Given the description of an element on the screen output the (x, y) to click on. 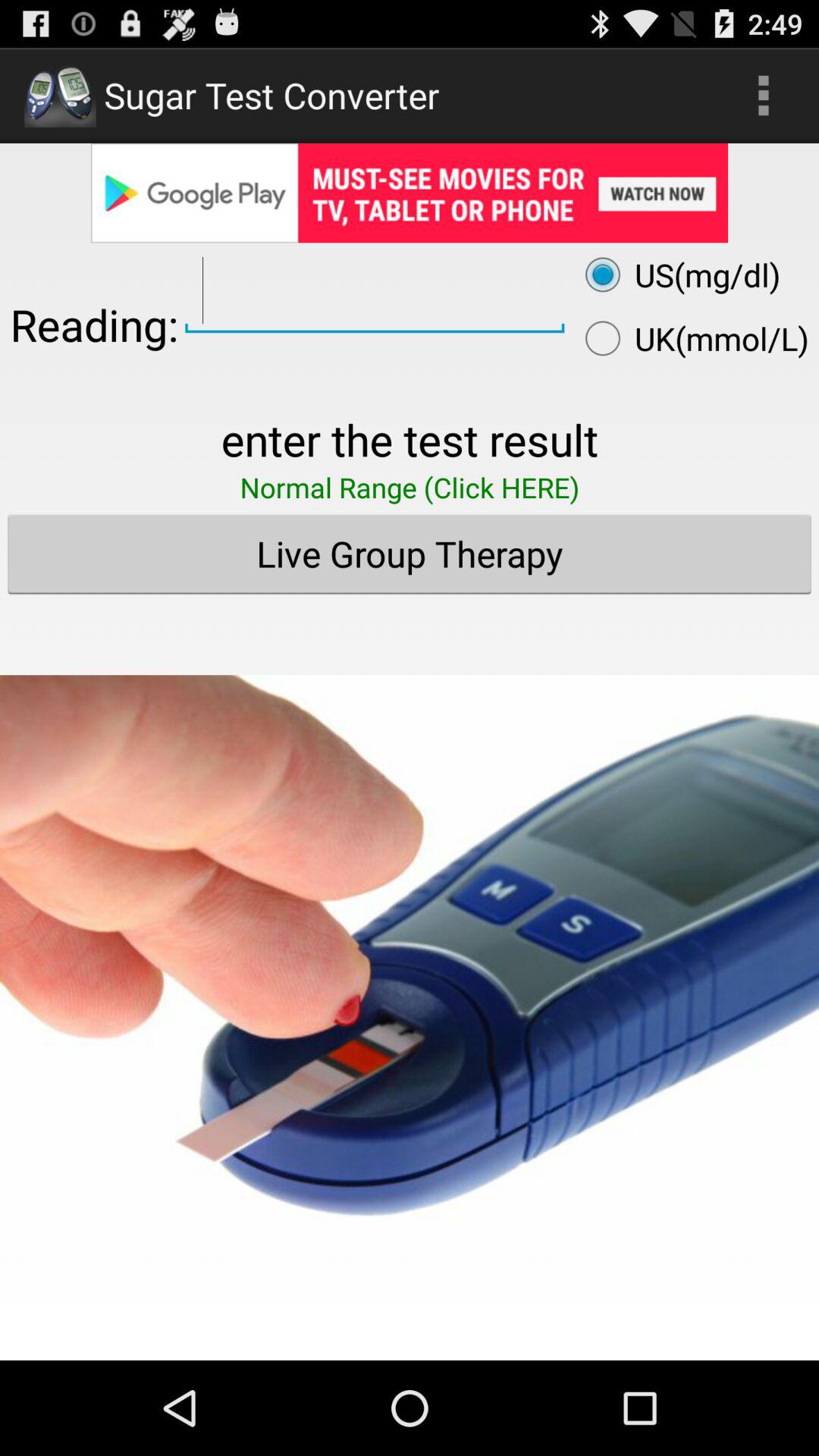
advertisement (409, 964)
